Given the description of an element on the screen output the (x, y) to click on. 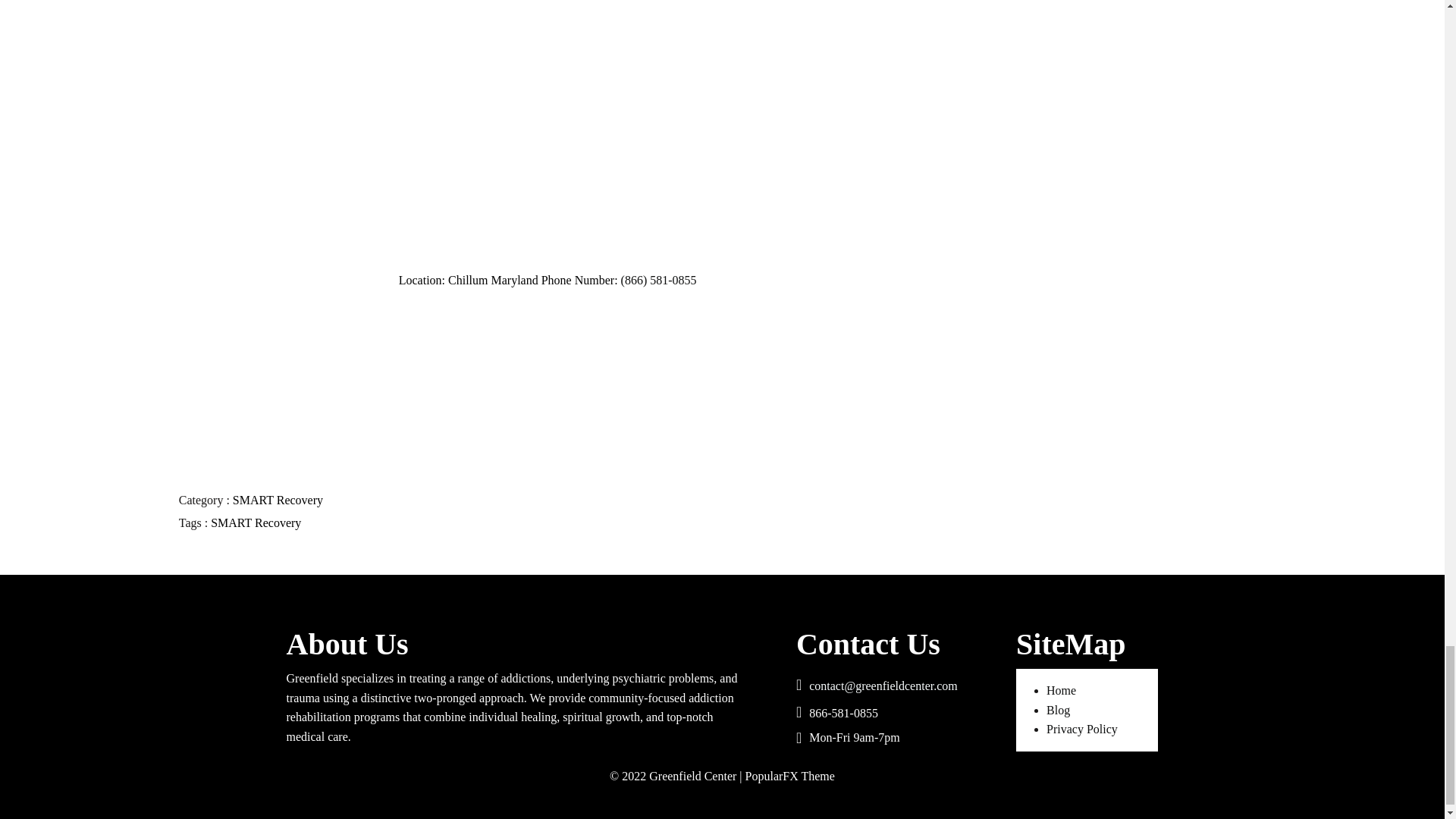
Blog (1058, 709)
Privacy Policy (1082, 728)
SMART Recovery (256, 522)
Home (1060, 689)
YouTube video player (570, 132)
PopularFX Theme (789, 775)
SMART Recovery (277, 499)
